Given the description of an element on the screen output the (x, y) to click on. 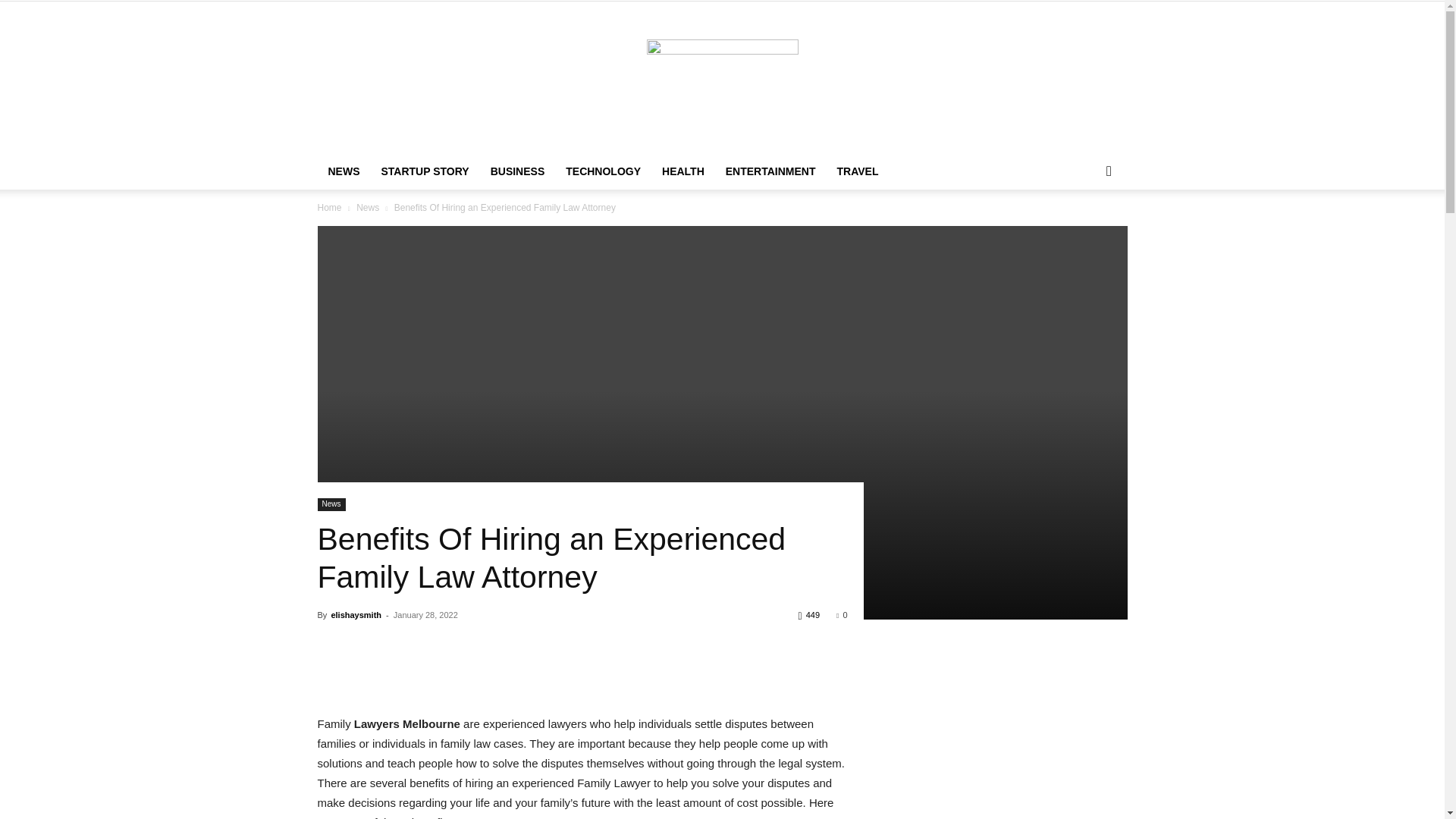
ENTERTAINMENT (770, 171)
HEALTH (682, 171)
News (331, 504)
TECHNOLOGY (602, 171)
BUSINESS (518, 171)
0 (841, 614)
Home (328, 207)
Times Business Idea (721, 77)
NEWS (343, 171)
STARTUP STORY (424, 171)
Search (1085, 232)
TRAVEL (858, 171)
elishaysmith (355, 614)
News (367, 207)
View all posts in News (367, 207)
